Given the description of an element on the screen output the (x, y) to click on. 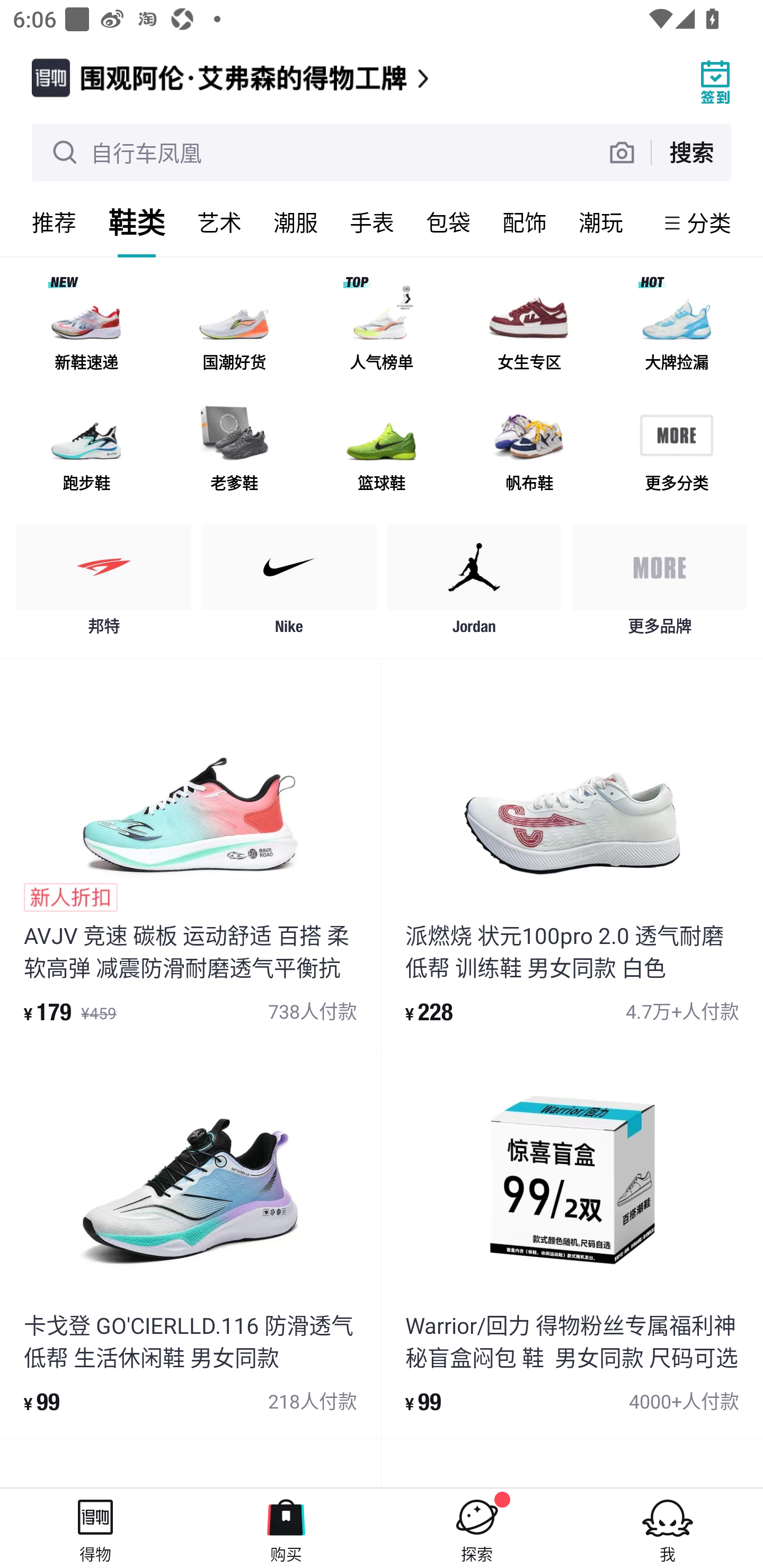
搜索 (690, 152)
推荐 (54, 222)
鞋类 (136, 222)
艺术 (219, 222)
潮服 (295, 222)
手表 (372, 222)
包袋 (448, 222)
配饰 (524, 222)
潮玩 (601, 222)
分类 (708, 222)
新鞋速递 (86, 329)
国潮好货 (233, 329)
人气榜单 (381, 329)
女生专区 (528, 329)
大牌捡漏 (676, 329)
跑步鞋 (86, 450)
老爹鞋 (233, 450)
篮球鞋 (381, 450)
帆布鞋 (528, 450)
更多分类 (676, 450)
邦特 (103, 583)
Nike (288, 583)
Jordan (473, 583)
更多品牌 (658, 583)
得物 (95, 1528)
购买 (285, 1528)
探索 (476, 1528)
我 (667, 1528)
